Given the description of an element on the screen output the (x, y) to click on. 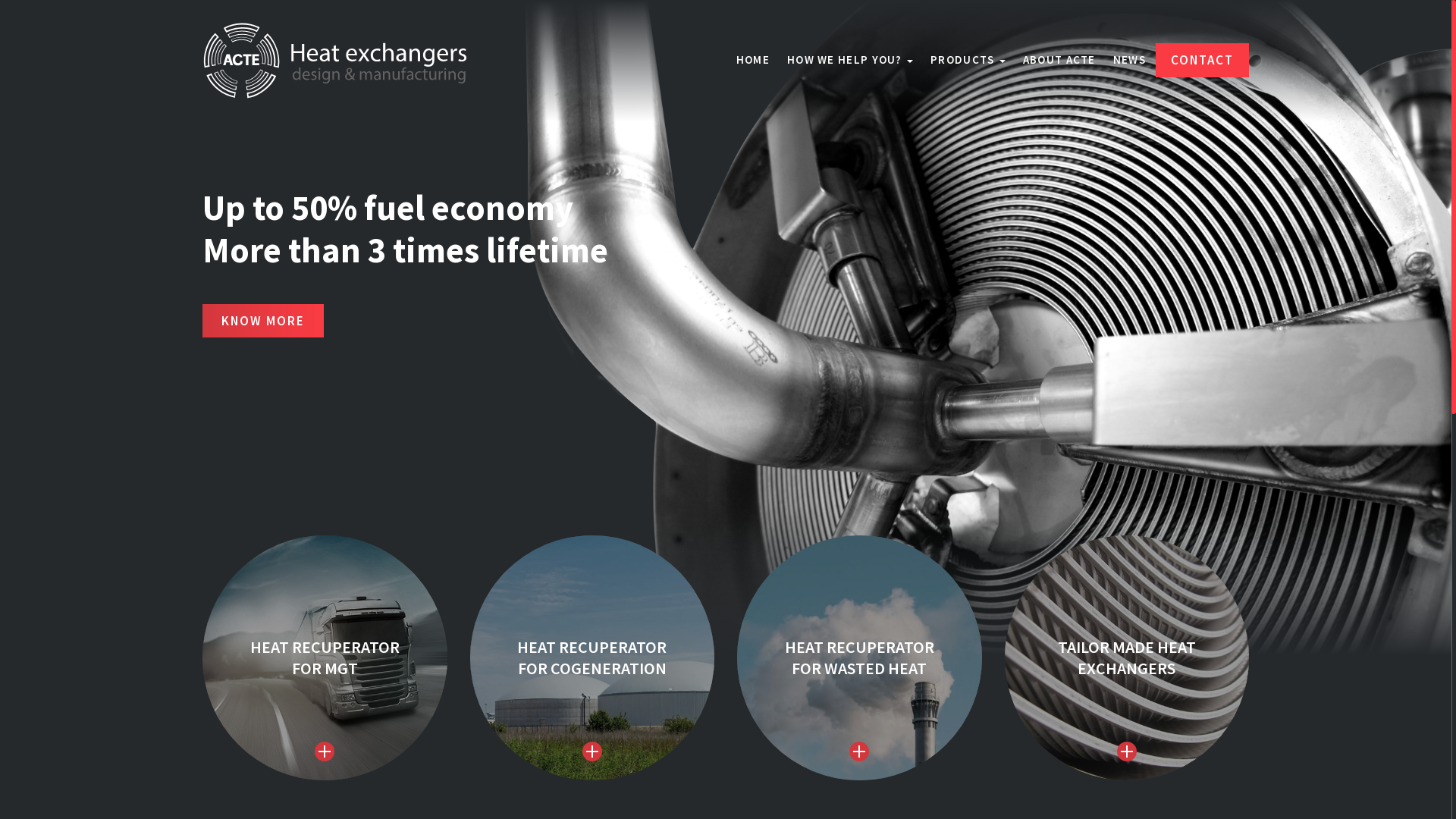
HOW WE HELP YOU? Element type: text (849, 59)
NEWS Element type: text (1129, 59)
HOME Element type: text (752, 59)
ABOUT ACTE Element type: text (1059, 59)
CONTACT Element type: text (1201, 59)
PRODUCTS Element type: text (967, 59)
